Given the description of an element on the screen output the (x, y) to click on. 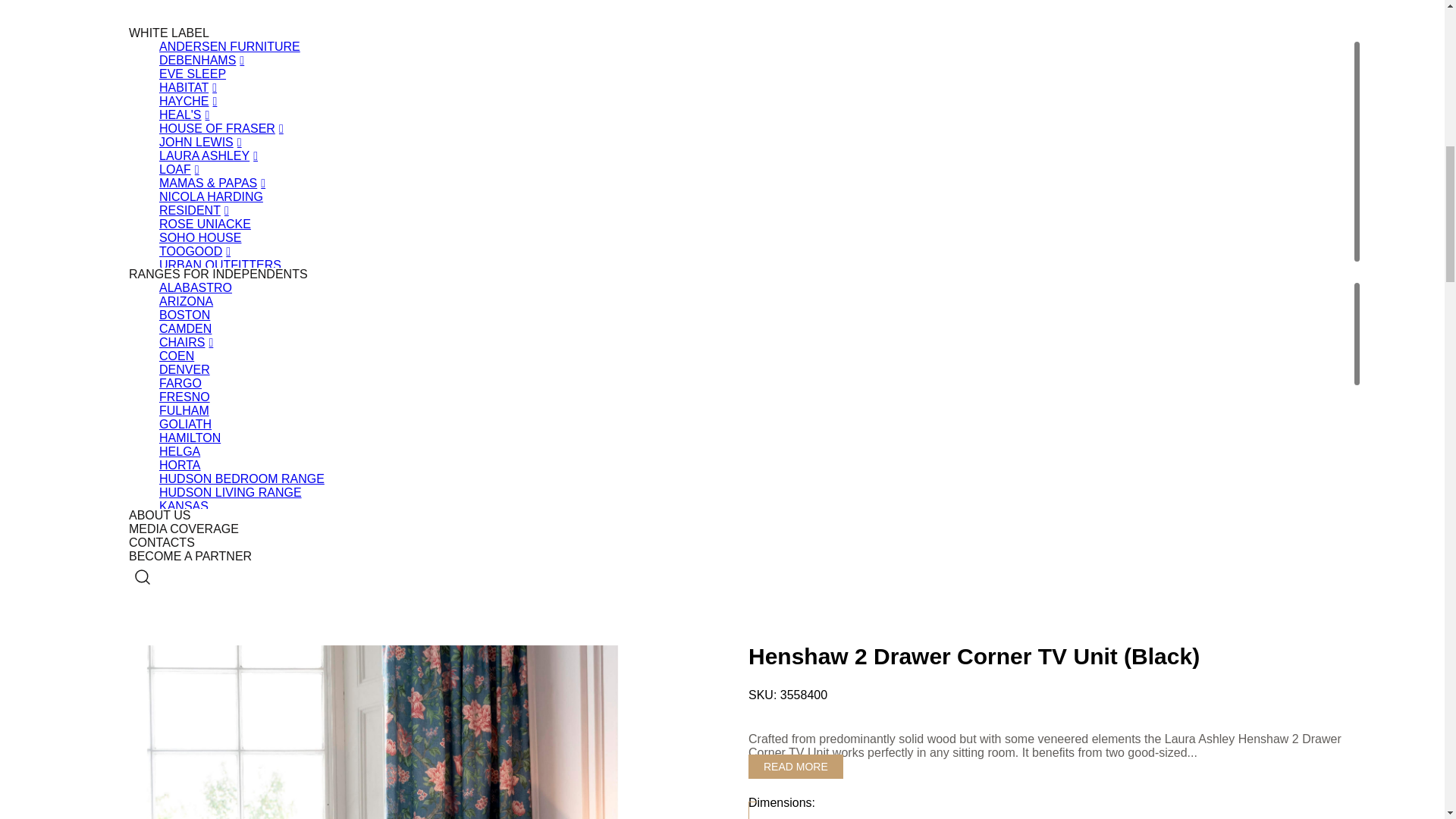
Contacts (162, 542)
Ranges for Independents (218, 273)
Media Coverage (183, 528)
Become a partner (190, 555)
White Label (169, 32)
About Us (159, 514)
